Given the description of an element on the screen output the (x, y) to click on. 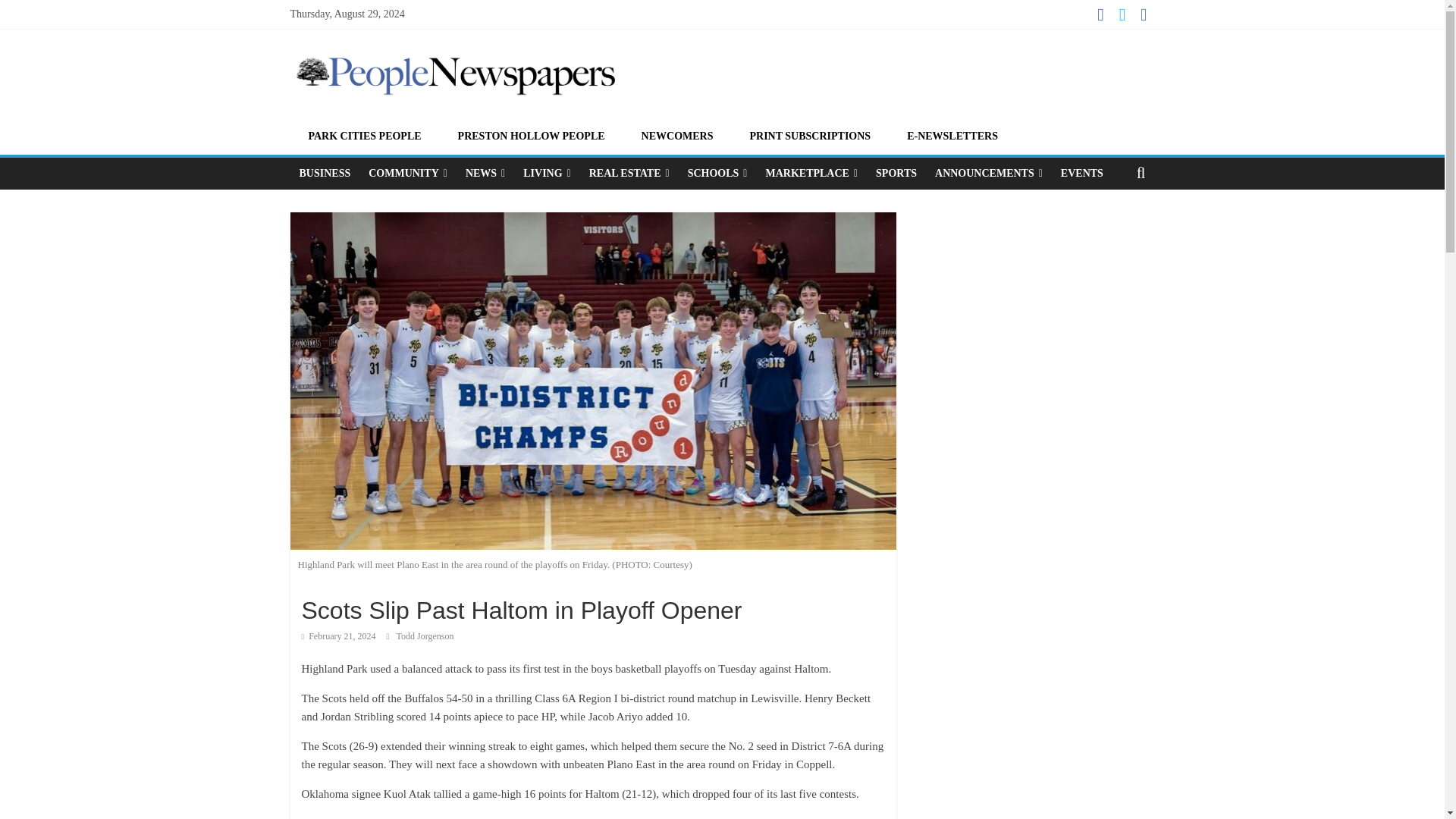
linkedin (676, 816)
LIVING (546, 173)
Todd Jorgenson (425, 635)
twitter (635, 816)
PRESTON HOLLOW PEOPLE (531, 135)
ANNOUNCEMENTS (988, 173)
facebook (551, 816)
SPORTS (896, 173)
PRINT SUBSCRIPTIONS (809, 135)
COMMUNITY (408, 173)
